Given the description of an element on the screen output the (x, y) to click on. 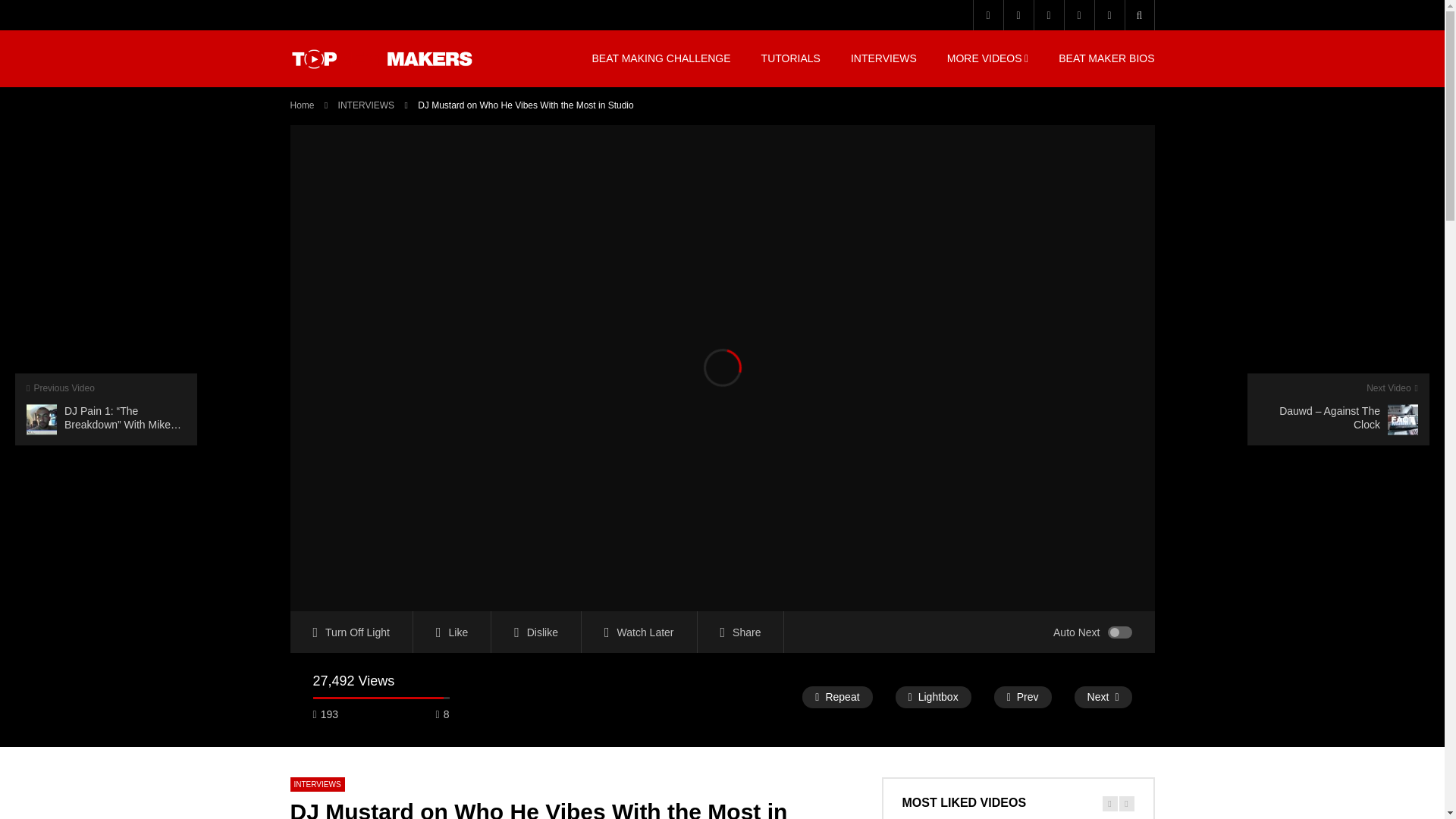
Notifications (1108, 15)
Instagram (1047, 15)
Prev (1022, 697)
BEAT MAKER BIOS (1106, 58)
Twitter (1017, 15)
TUTORIALS (790, 58)
INTERVIEWS (365, 104)
Facebook (987, 15)
Watch later (1077, 15)
Home (301, 104)
INTERVIEWS (316, 784)
BEAT MAKING CHALLENGE (660, 58)
Top Beat Makers (381, 57)
Search (1116, 45)
Lightbox (933, 697)
